Given the description of an element on the screen output the (x, y) to click on. 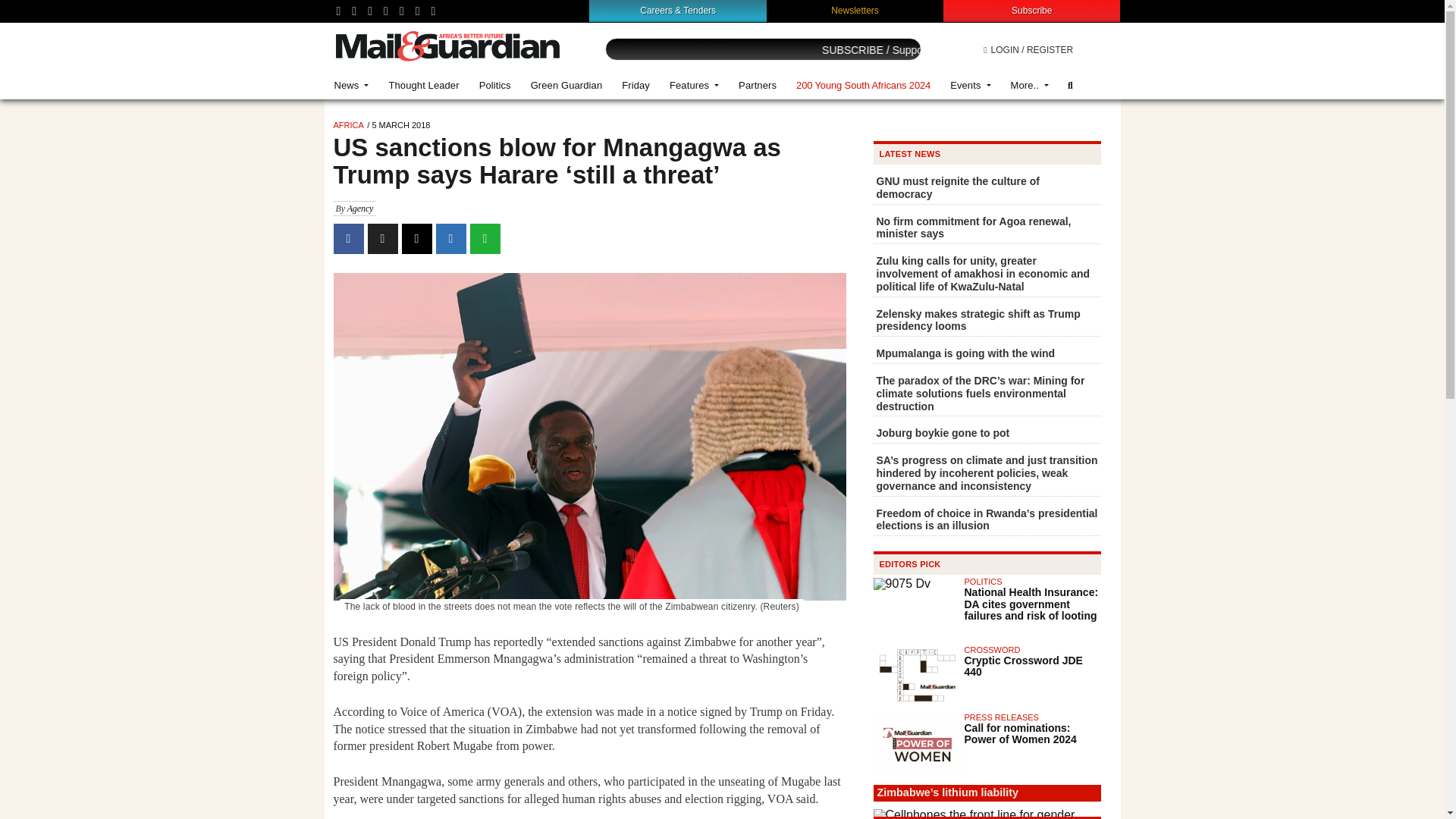
Newsletters (855, 9)
Green Guardian (566, 85)
Features (694, 85)
Friday (635, 85)
News (351, 85)
Thought Leader (423, 85)
Politics (494, 85)
News (351, 85)
Subscribe (1031, 9)
